Given the description of an element on the screen output the (x, y) to click on. 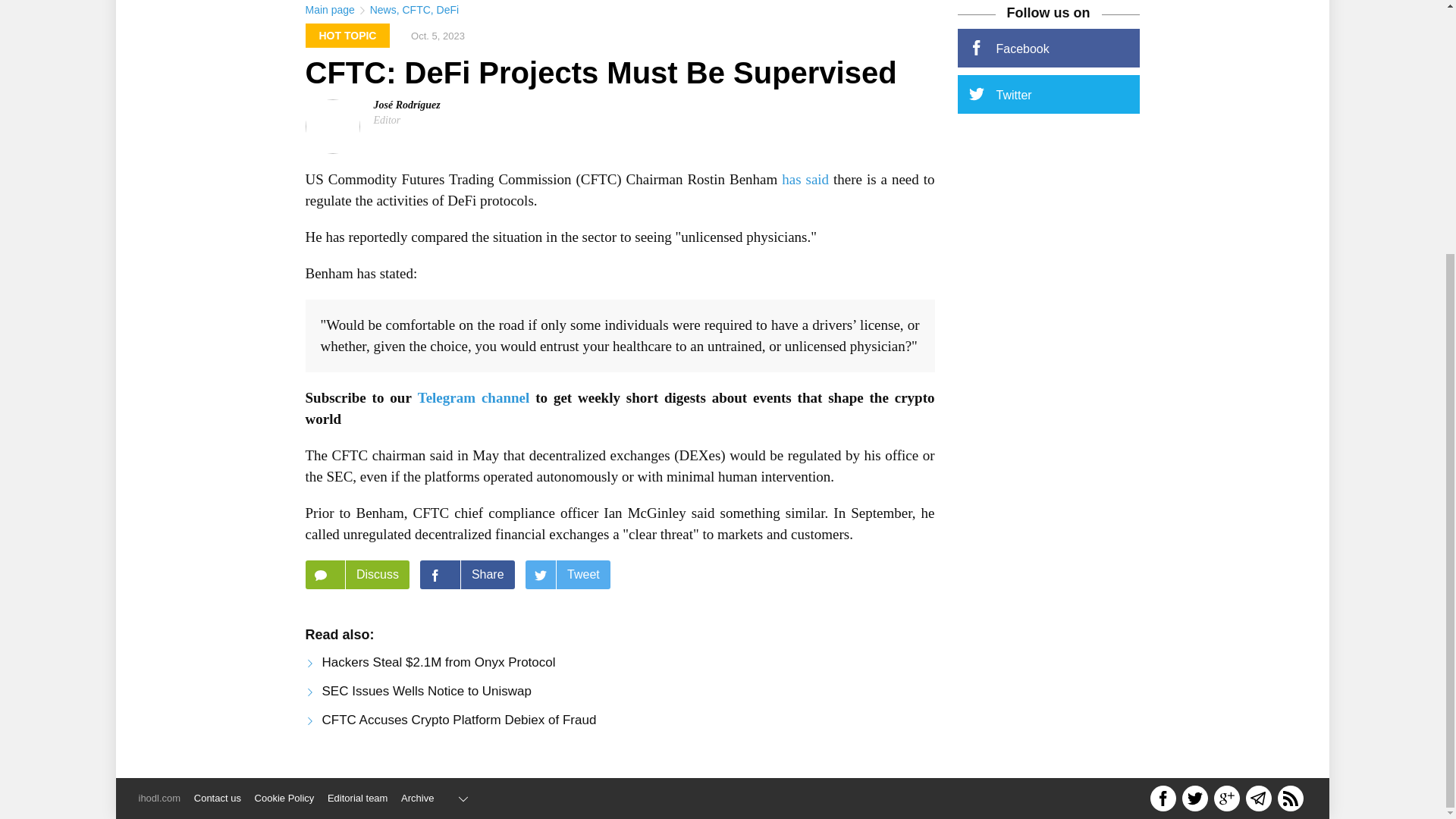
Discuss (356, 574)
Editor (386, 120)
DeFi (448, 9)
Telegram channel (473, 397)
CFTC (415, 9)
Main page (328, 9)
has said (804, 179)
News (382, 9)
